Given the description of an element on the screen output the (x, y) to click on. 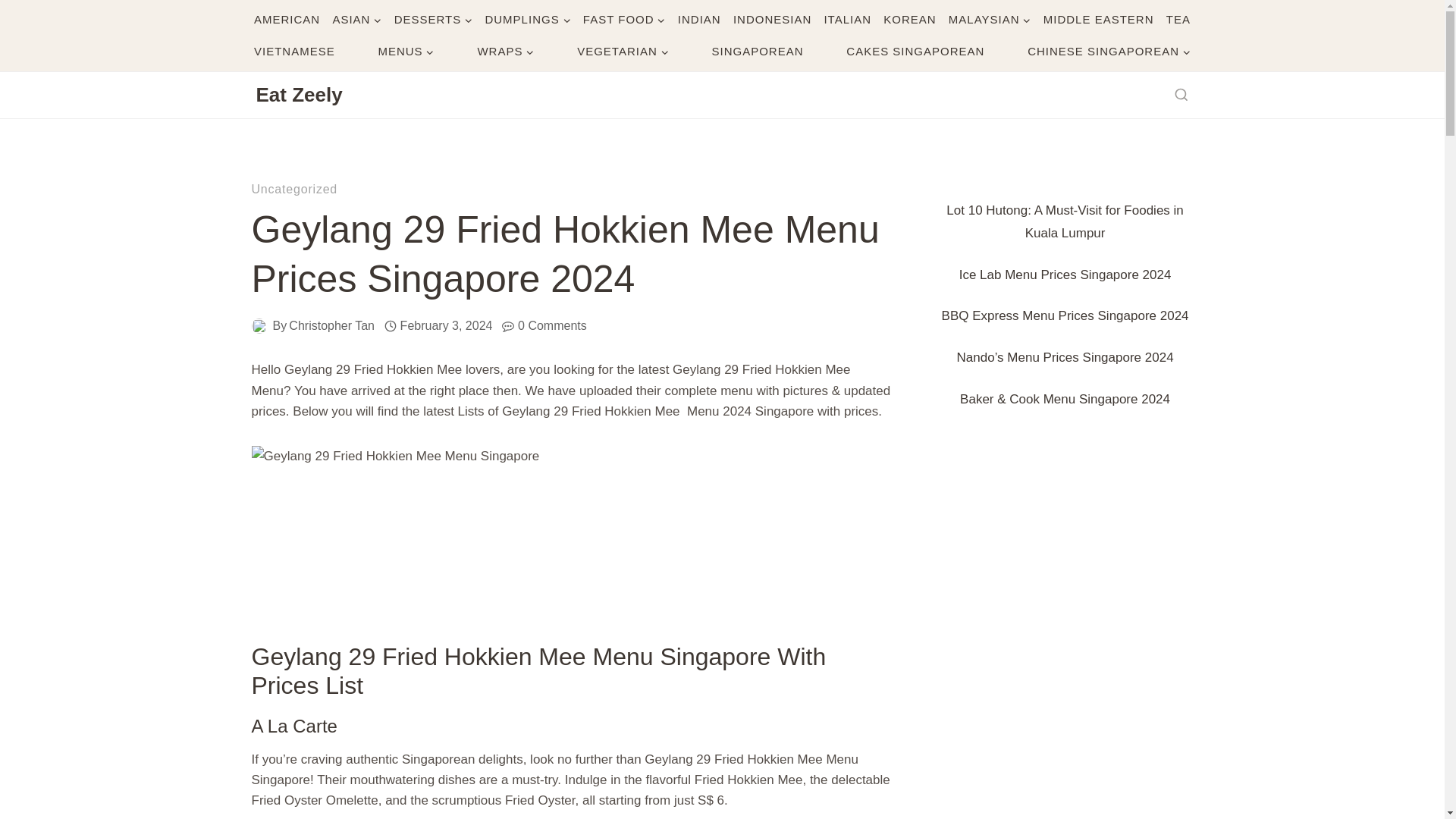
TEA (1177, 20)
FAST FOOD (623, 20)
MALAYSIAN (989, 20)
MIDDLE EASTERN (1097, 20)
INDONESIAN (771, 20)
McDonald's Menu Prices Singapore 2023 1 (571, 525)
MENUS (405, 51)
INDIAN (698, 20)
DUMPLINGS (527, 20)
0 Comments (552, 325)
DESSERTS (433, 20)
KOREAN (909, 20)
ASIAN (356, 20)
VIETNAMESE (294, 51)
AMERICAN (287, 20)
